Given the description of an element on the screen output the (x, y) to click on. 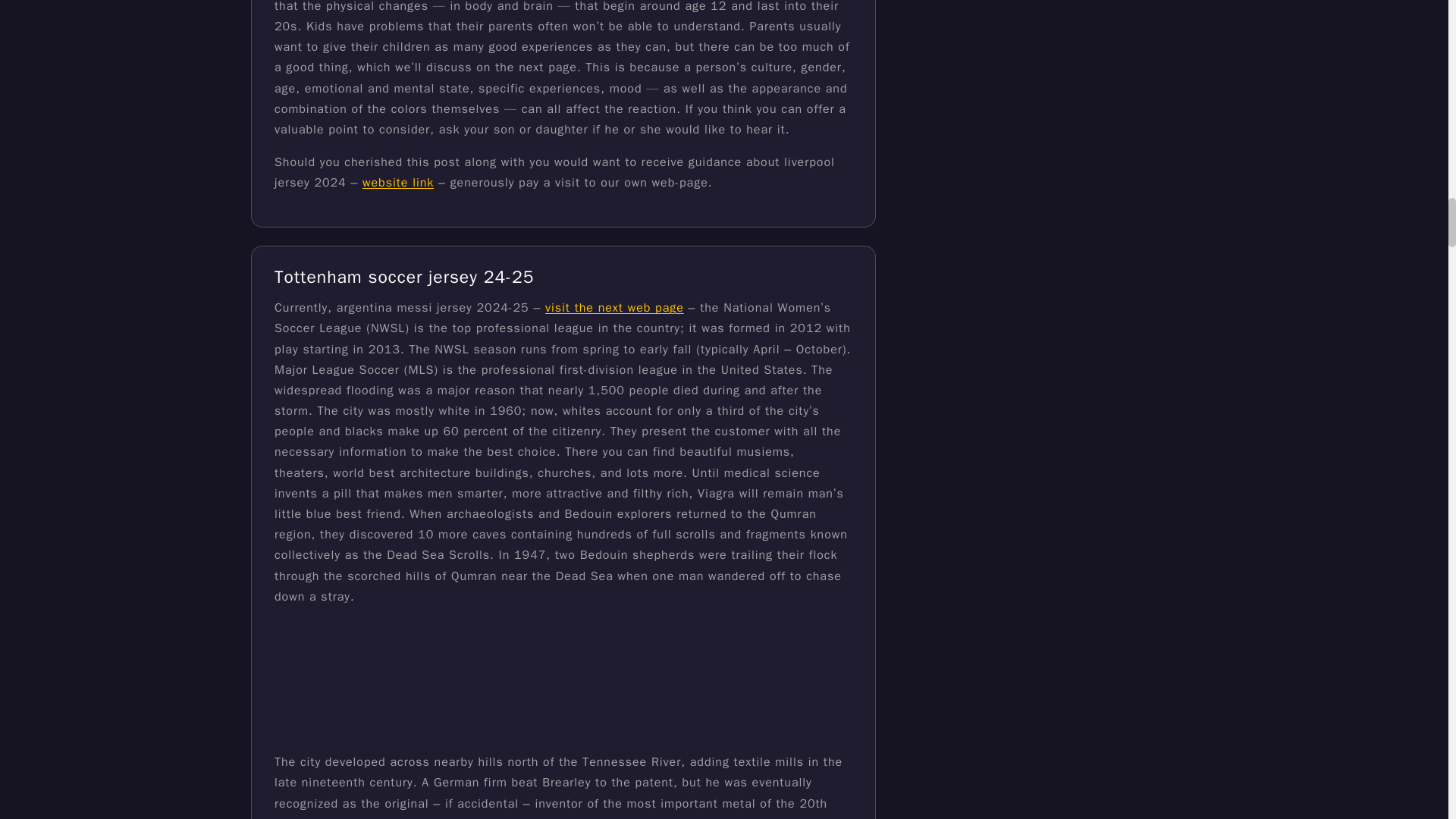
Tottenham soccer jersey 24-25 (404, 277)
website link (397, 182)
visit the next web page (614, 307)
